Given the description of an element on the screen output the (x, y) to click on. 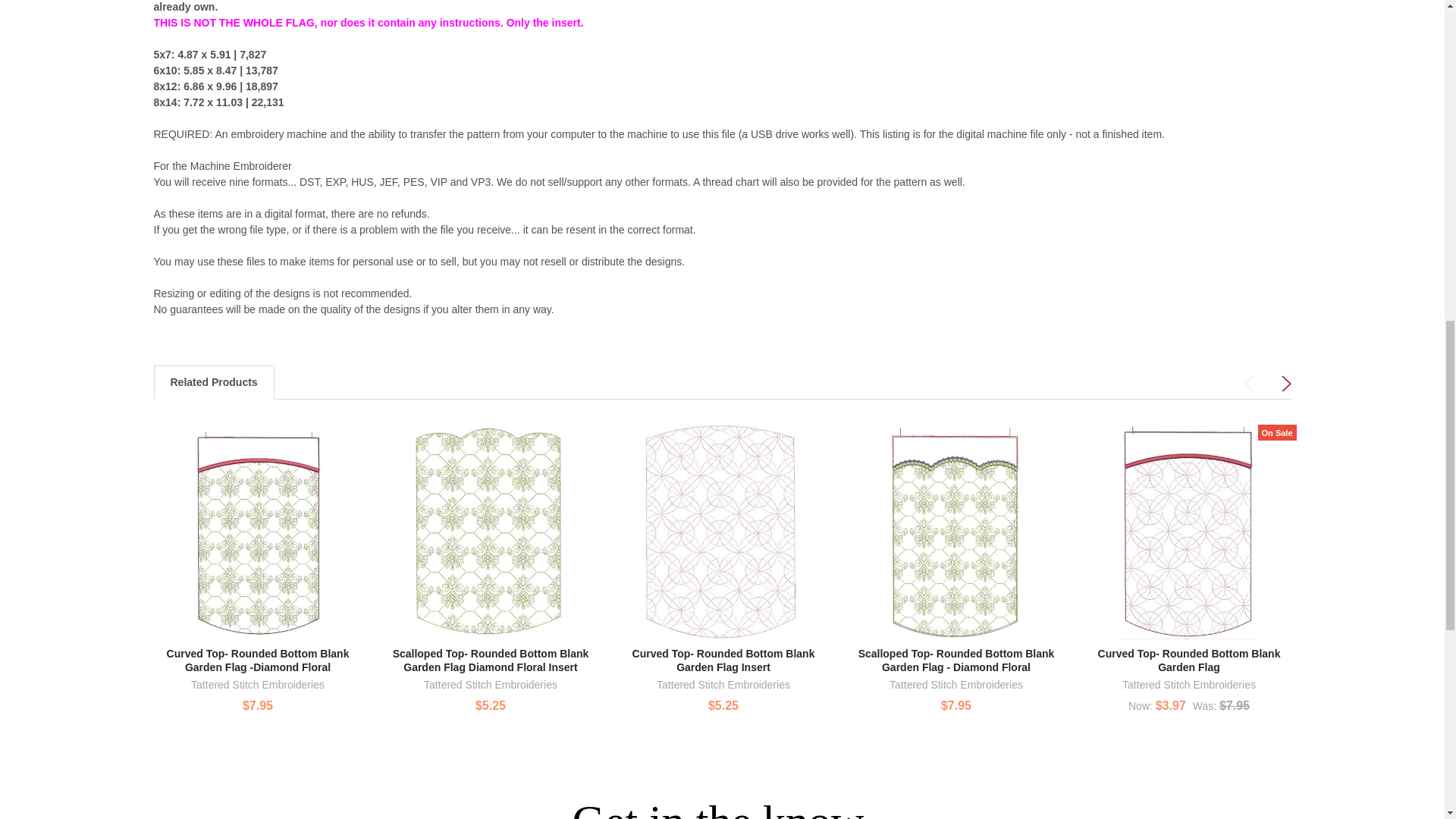
 Curved Top- Rounded Bottom Blank Garden Flag  Insert (722, 532)
